Given the description of an element on the screen output the (x, y) to click on. 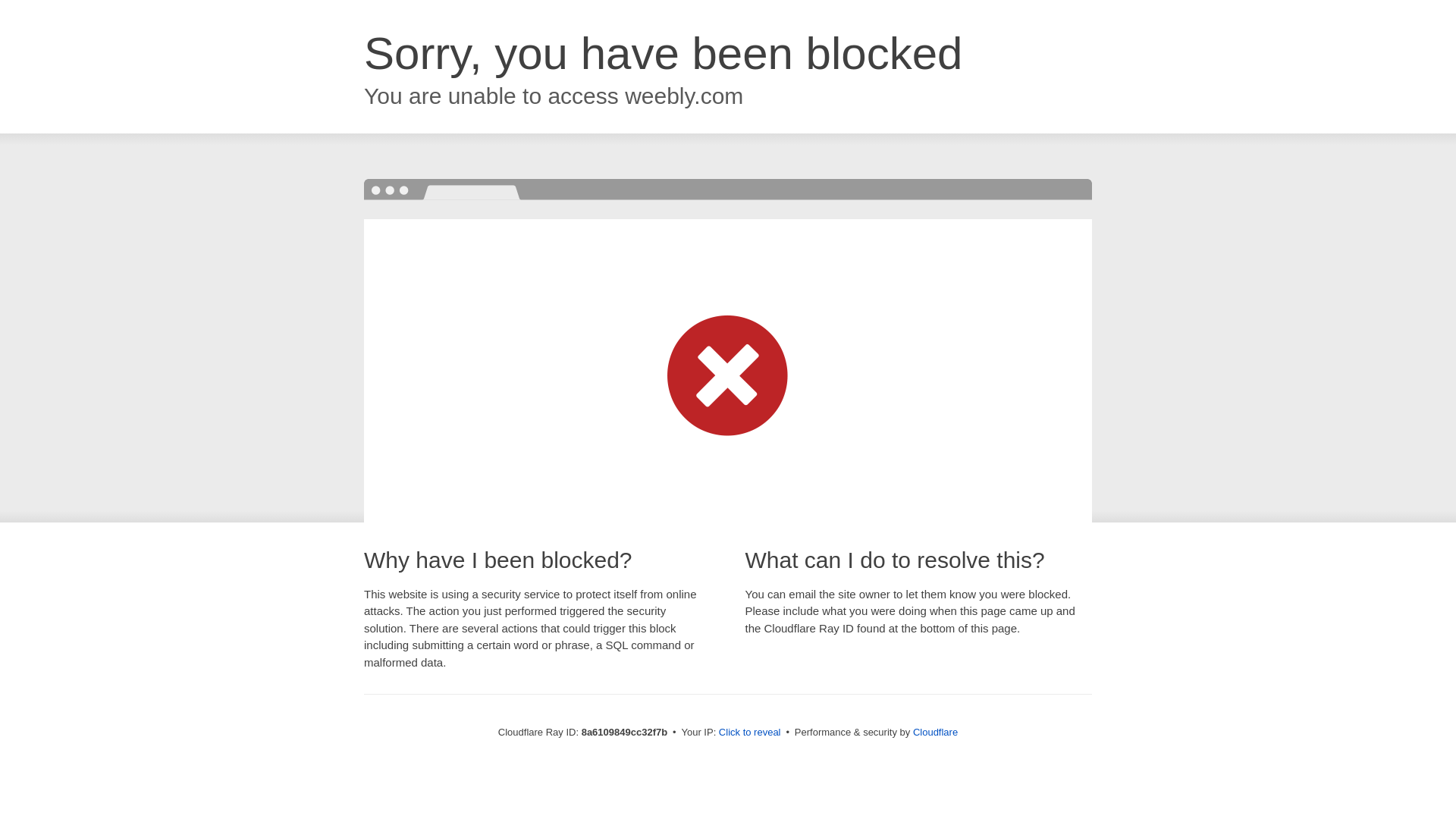
Cloudflare (935, 731)
Click to reveal (749, 732)
